Given the description of an element on the screen output the (x, y) to click on. 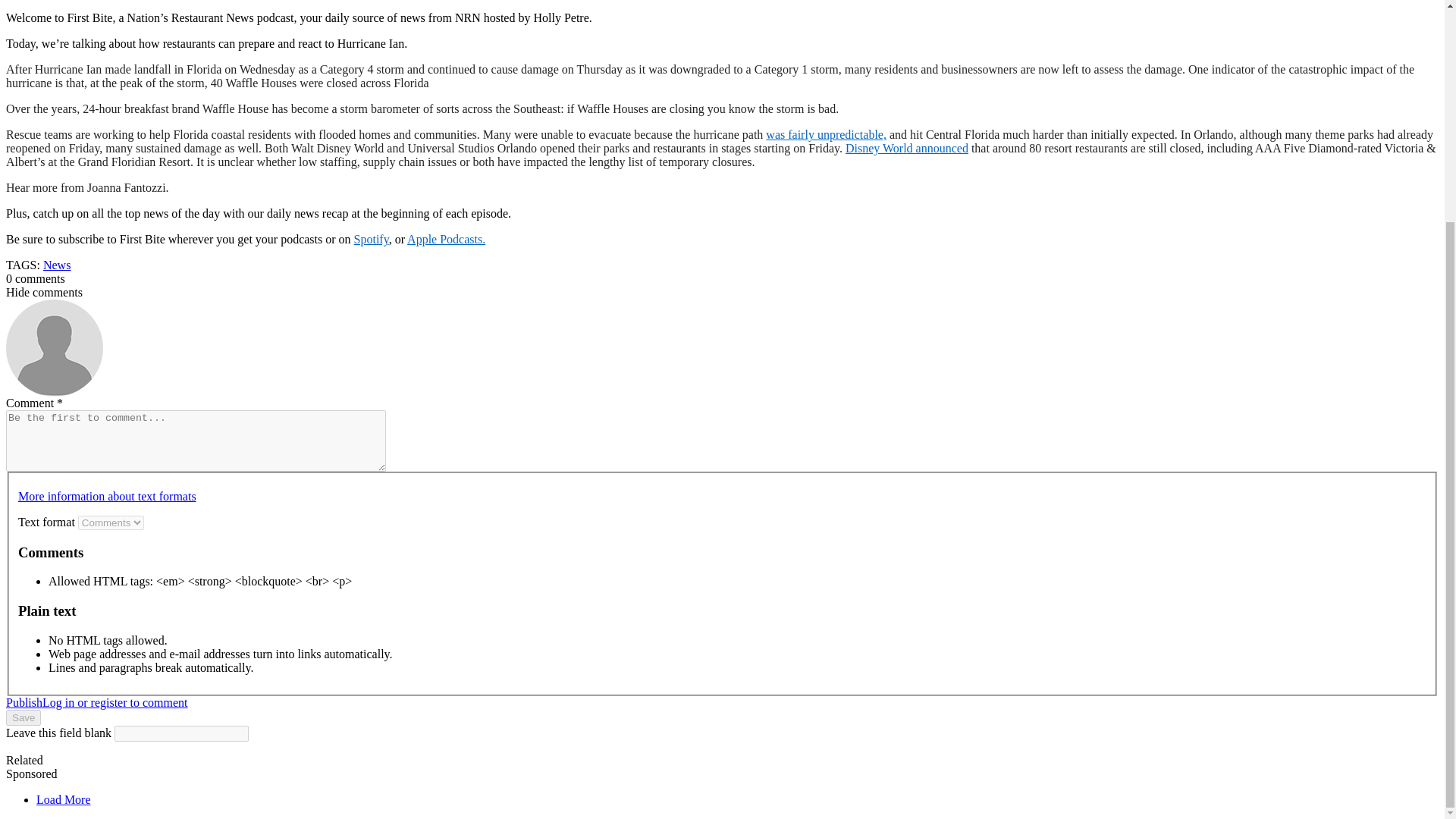
Log in or register to comment (114, 702)
Apple Podcasts. (445, 238)
Load More (63, 799)
Publish (23, 702)
Spotify (370, 238)
More information about text formats (106, 495)
Save (22, 717)
0 comments (35, 278)
News (56, 264)
was fairly unpredictable, (825, 133)
Disney World announced (906, 147)
